Given the description of an element on the screen output the (x, y) to click on. 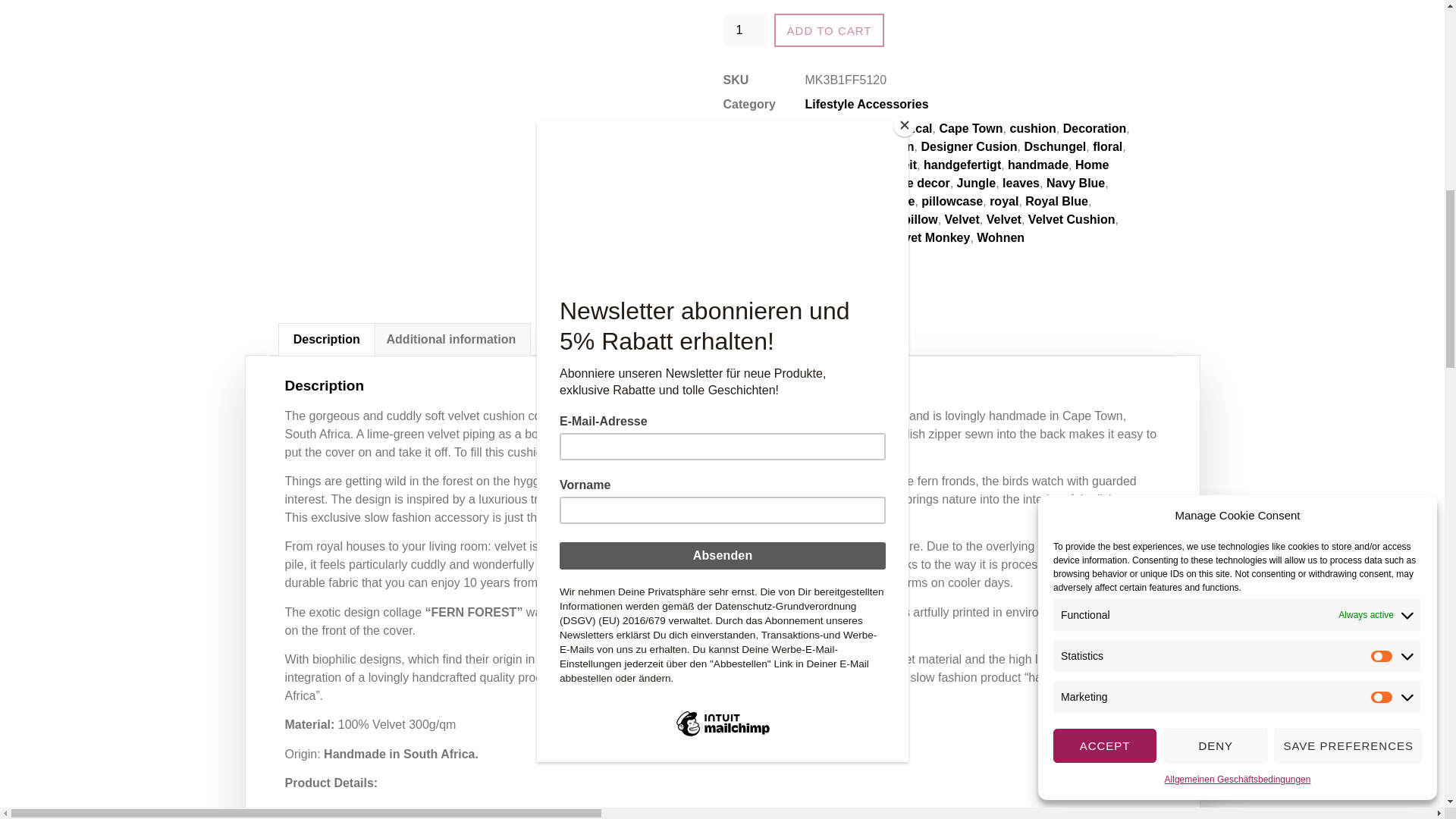
1 (745, 29)
